Given the description of an element on the screen output the (x, y) to click on. 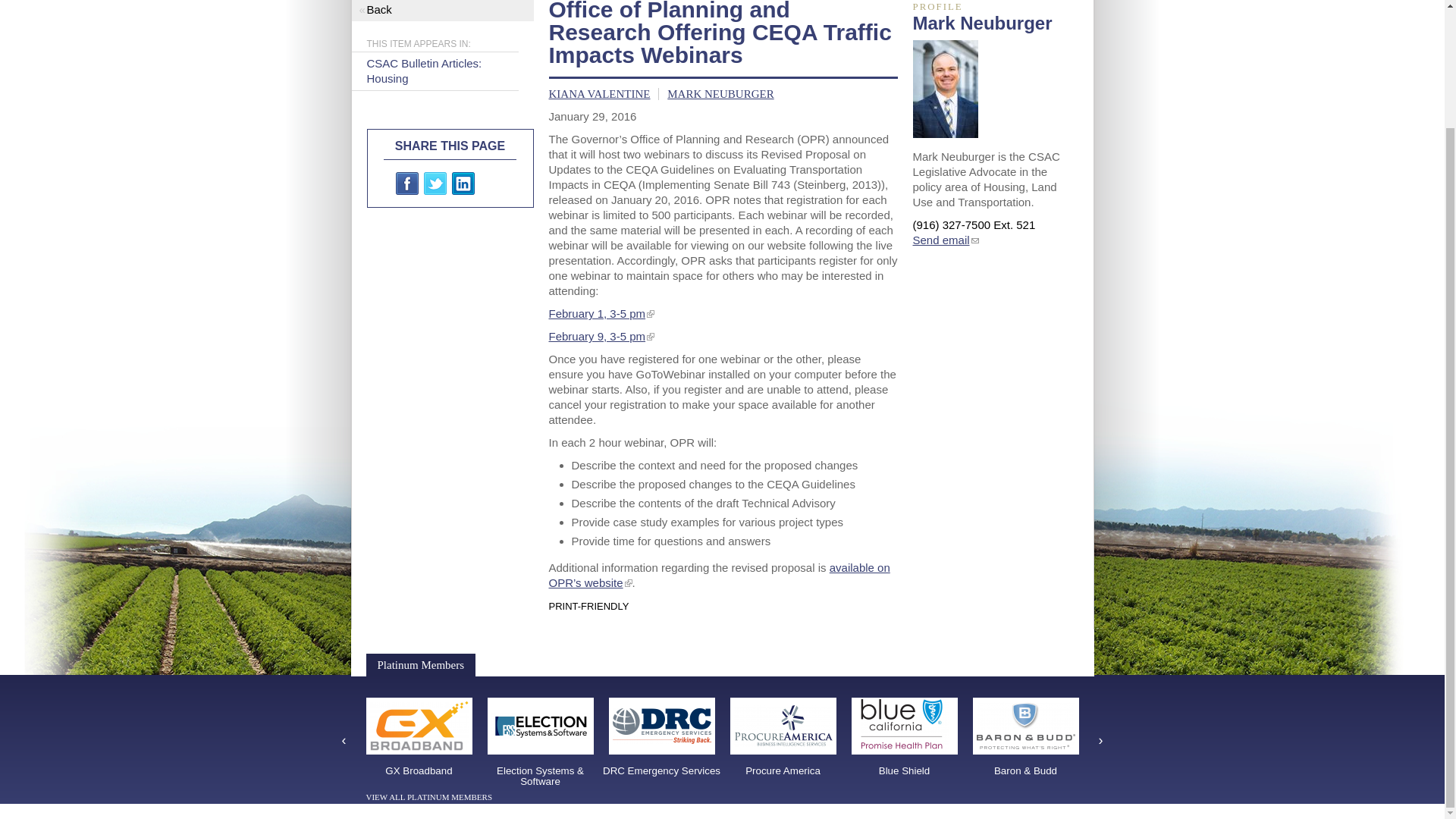
MARK NEUBURGER (719, 93)
February 9, 3-5 pm (597, 336)
February 1, 3-5 pm (597, 313)
KIANA VALENTINE (599, 93)
PRINT-FRIENDLY (588, 605)
